Given the description of an element on the screen output the (x, y) to click on. 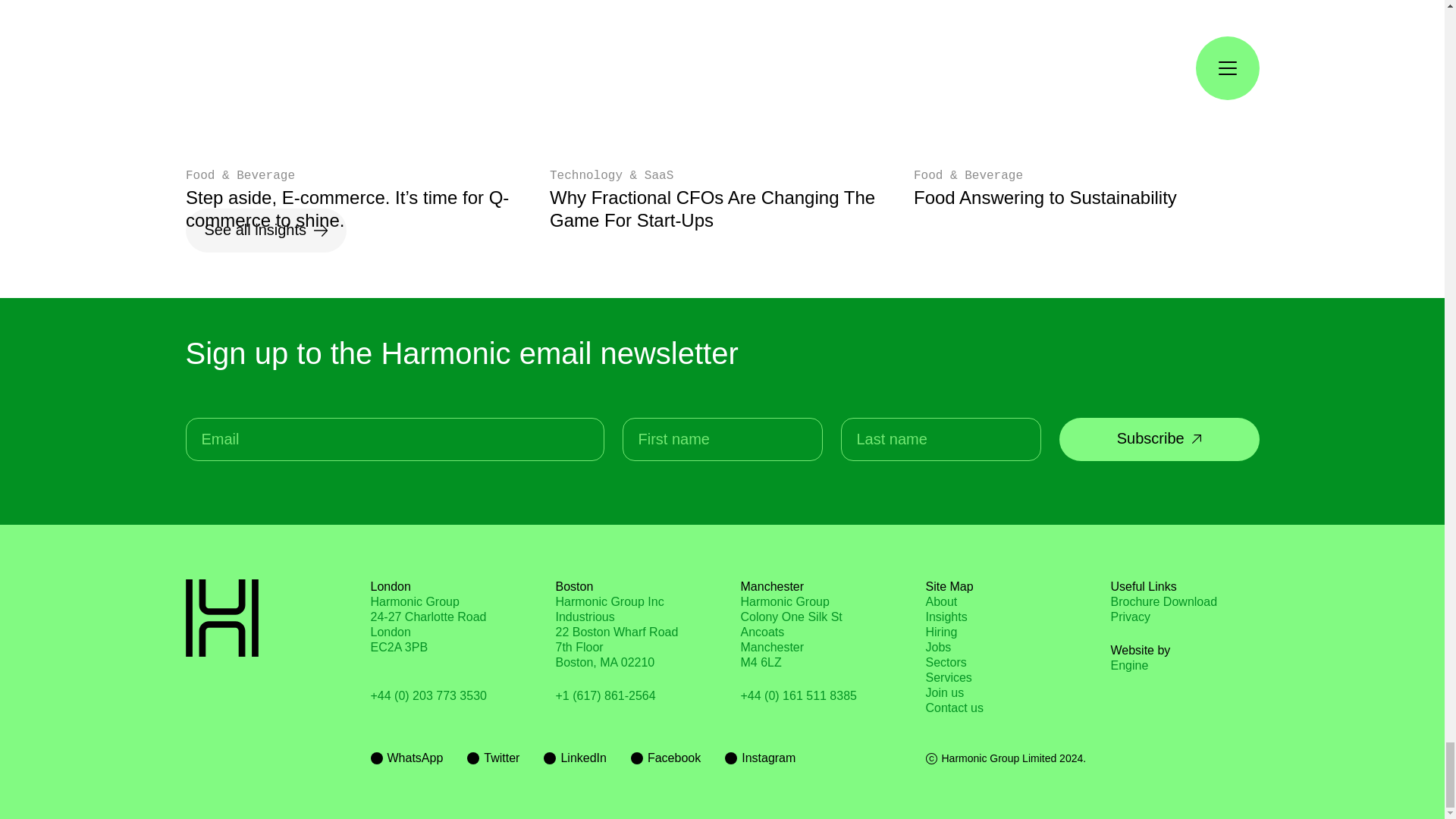
See all insights (790, 632)
Subscribe (265, 230)
